Given the description of an element on the screen output the (x, y) to click on. 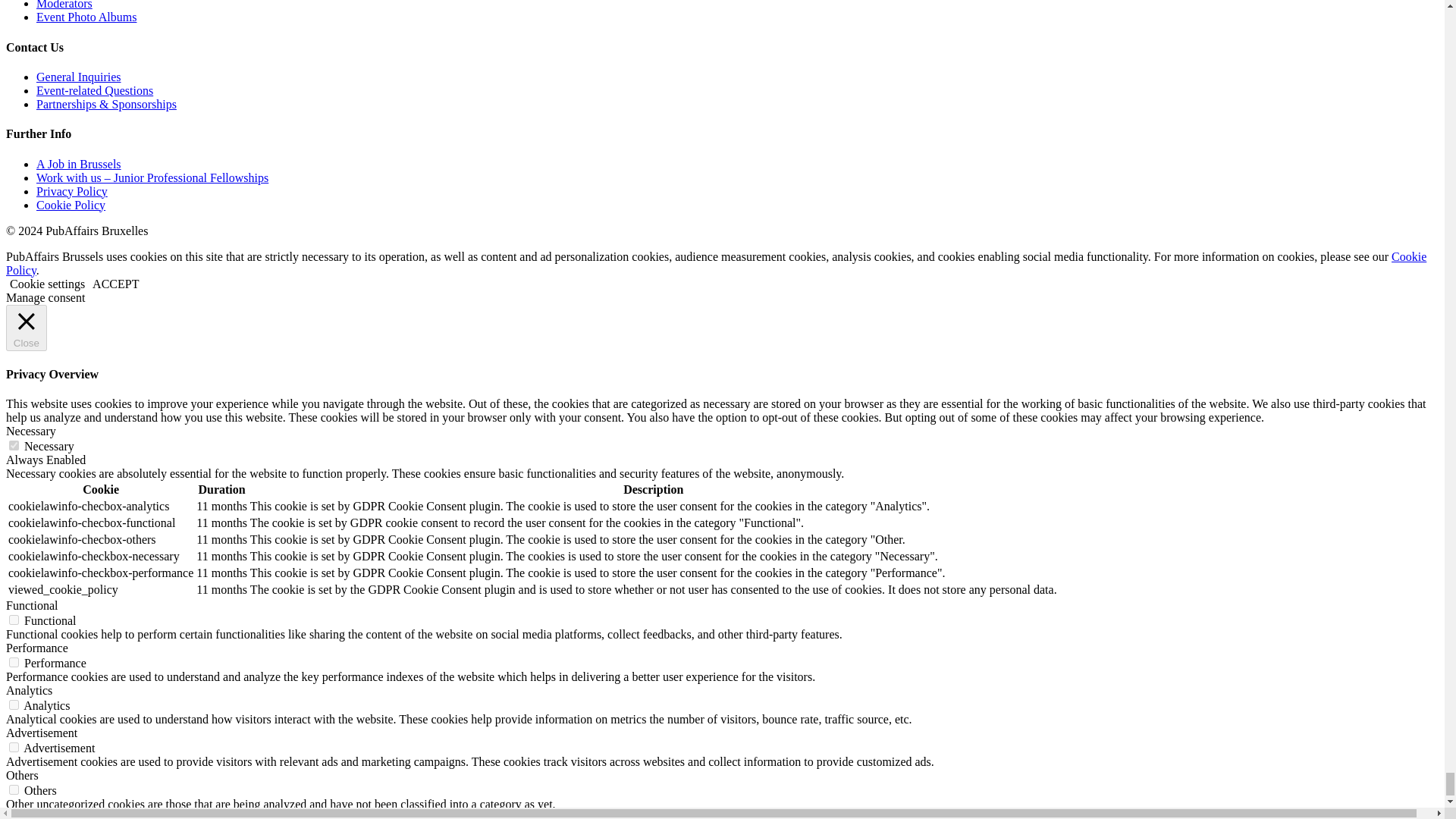
on (13, 445)
on (13, 705)
on (13, 789)
on (13, 747)
on (13, 662)
on (13, 619)
